Given the description of an element on the screen output the (x, y) to click on. 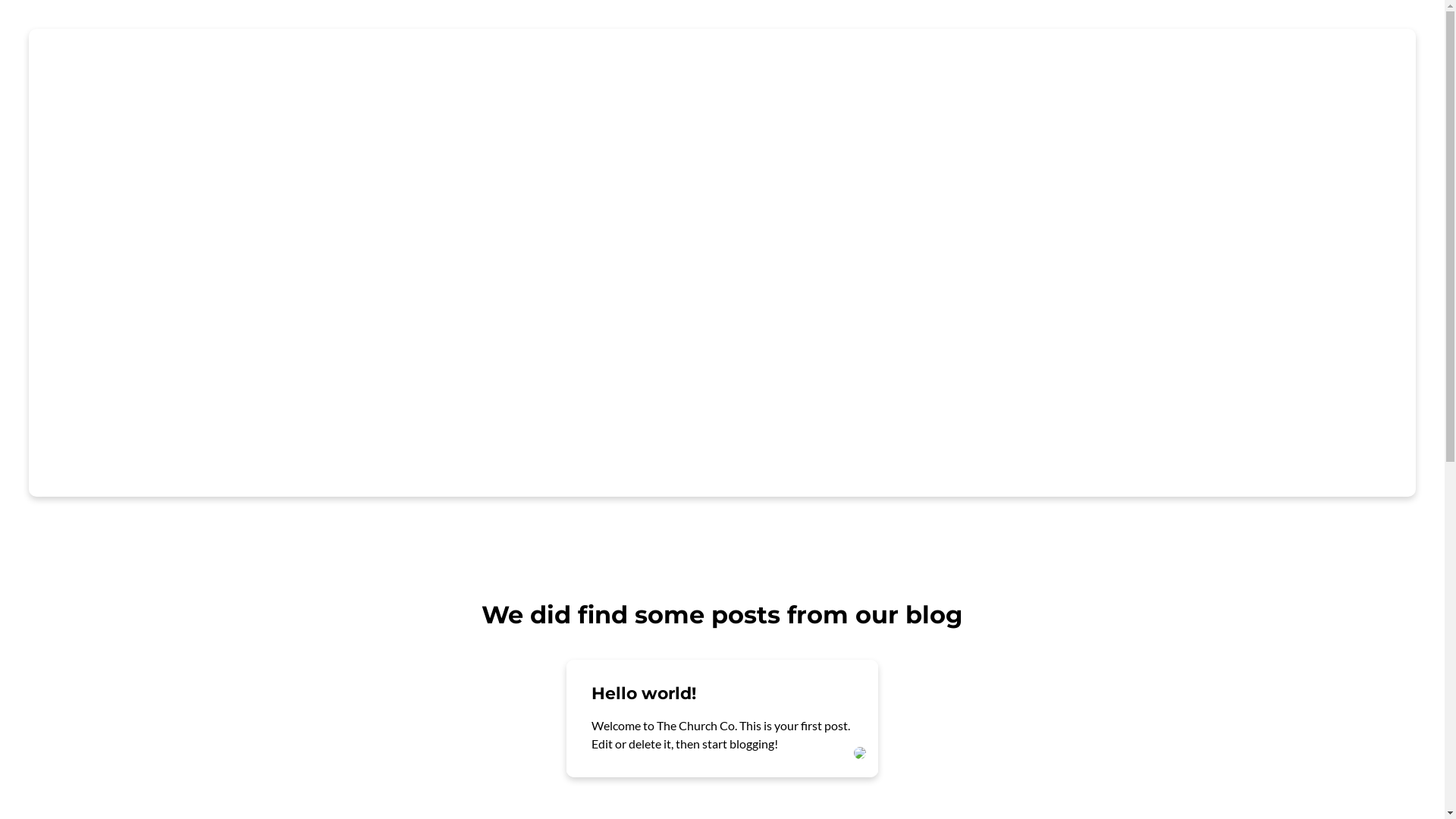
SERVICES Element type: text (696, 59)
MEDIA Element type: text (1192, 59)
HOME Element type: text (503, 59)
CURRICULUM AND COURSES Element type: text (857, 59)
AFFILIATE RESOURCES Element type: text (1060, 59)
CONTACT Element type: text (1370, 59)
EVENTS Element type: text (1276, 59)
BACK TO HOME Element type: text (260, 425)
ABOUT US Element type: text (595, 59)
